Given the description of an element on the screen output the (x, y) to click on. 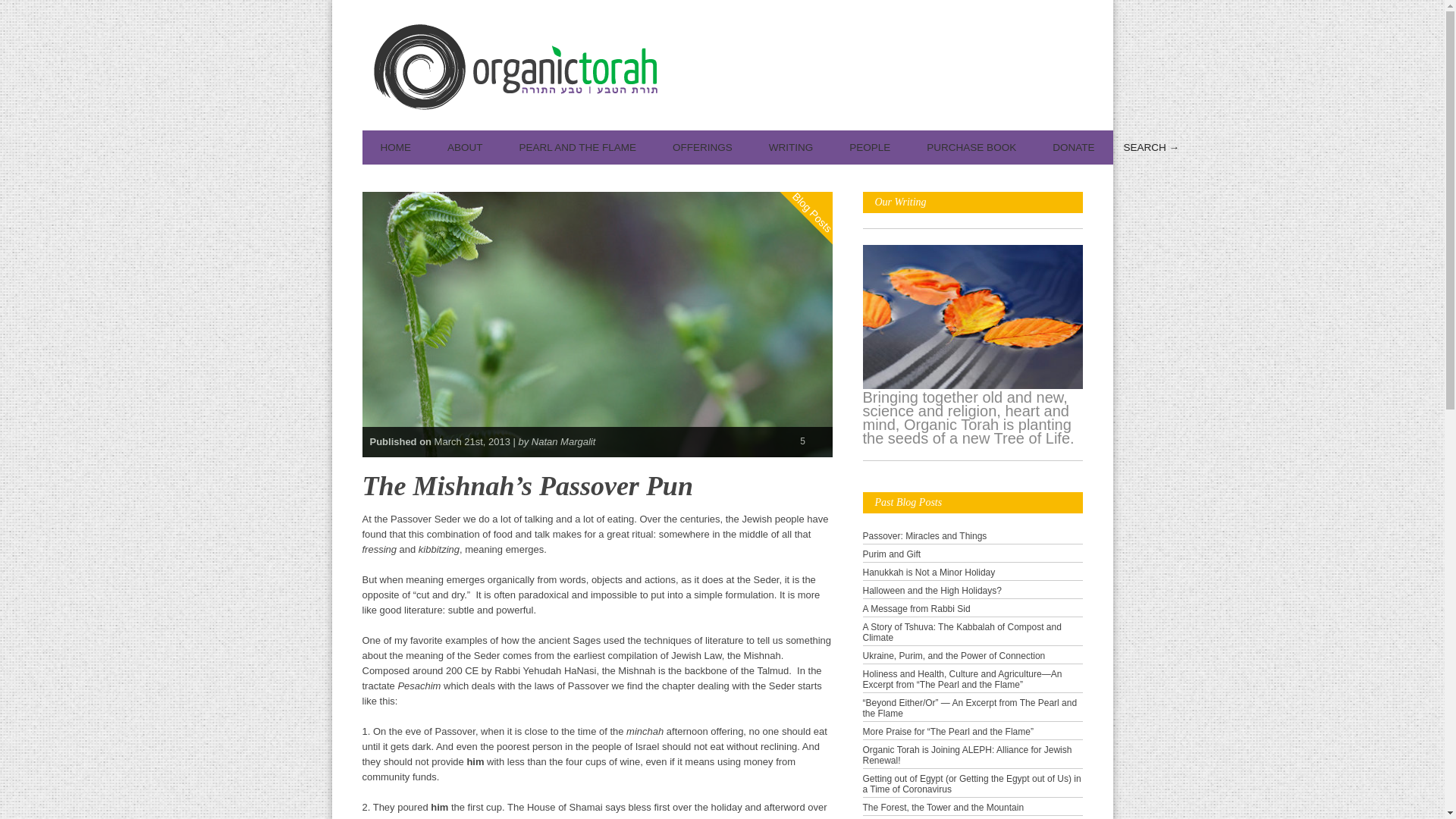
PEARL AND THE FLAME (577, 147)
PEOPLE (869, 147)
OFFERINGS (702, 147)
DONATE (1072, 147)
Ukraine, Purim, and the Power of Connection (954, 655)
PURCHASE BOOK (970, 147)
A Story of Tshuva: The Kabbalah of Compost and Climate (962, 631)
Purim and Gift (892, 553)
HOME (395, 147)
ABOUT (464, 147)
